Given the description of an element on the screen output the (x, y) to click on. 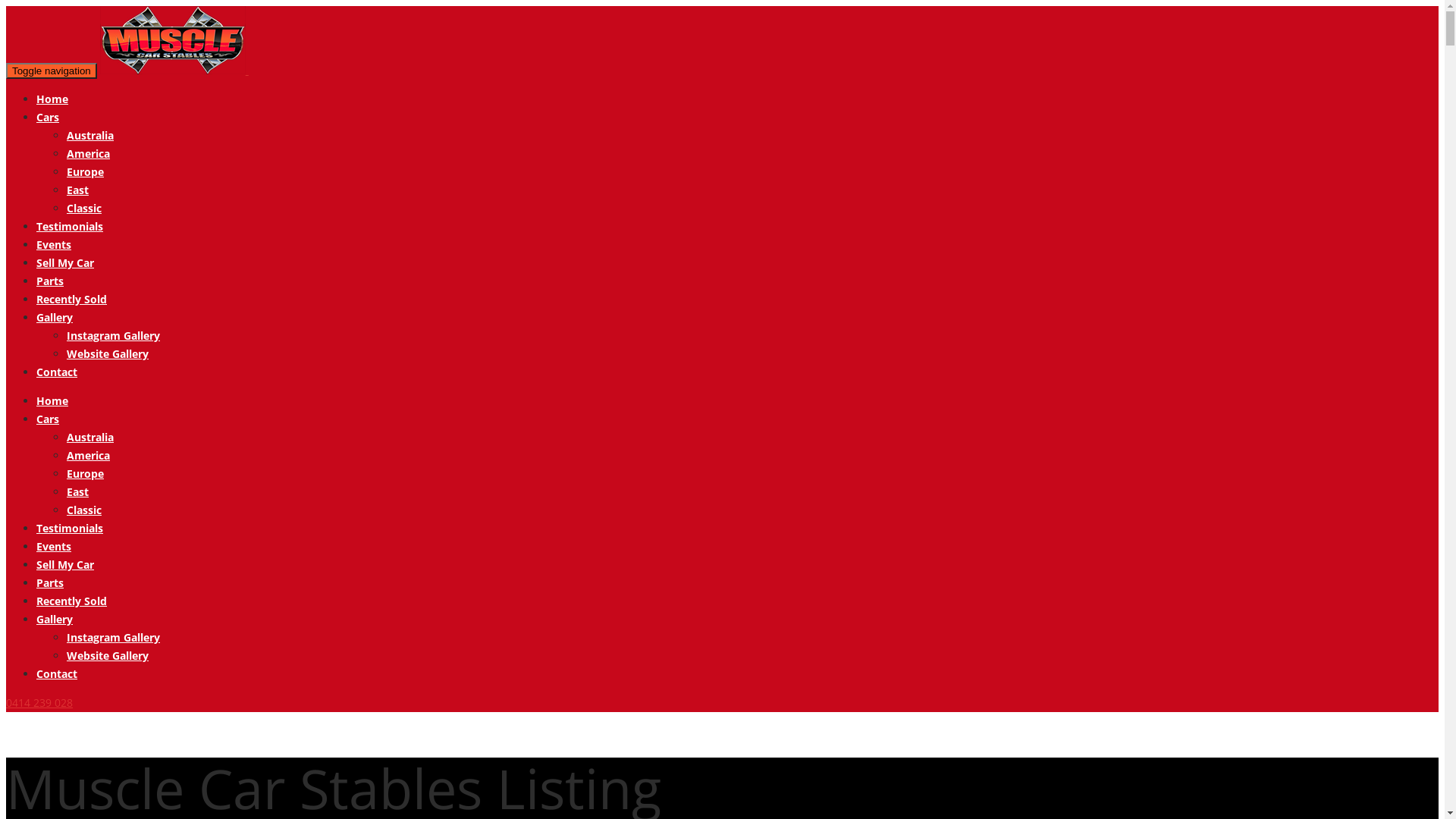
Cars Element type: text (47, 116)
Home Element type: text (52, 98)
Parts Element type: text (49, 582)
Gallery Element type: text (54, 317)
Australia Element type: text (89, 135)
America Element type: text (87, 455)
America Element type: text (87, 153)
Events Element type: text (53, 244)
Testimonials Element type: text (69, 226)
Sell My Car Element type: text (65, 564)
Website Gallery Element type: text (107, 353)
Recently Sold Element type: text (71, 600)
Instagram Gallery Element type: text (113, 335)
Gallery Element type: text (54, 618)
Testimonials Element type: text (69, 527)
Europe Element type: text (84, 473)
East Element type: text (77, 491)
Sell My Car Element type: text (65, 262)
East Element type: text (77, 189)
Europe Element type: text (84, 171)
Events Element type: text (53, 546)
Toggle navigation Element type: text (51, 70)
Instagram Gallery Element type: text (113, 637)
Website Gallery Element type: text (107, 655)
0414 239 028 Element type: text (39, 702)
Classic Element type: text (83, 207)
Contact Element type: text (56, 673)
Australia Element type: text (89, 436)
Contact Element type: text (56, 371)
Recently Sold Element type: text (71, 298)
Home Element type: text (52, 400)
Cars Element type: text (47, 418)
Classic Element type: text (83, 509)
Parts Element type: text (49, 280)
